Given the description of an element on the screen output the (x, y) to click on. 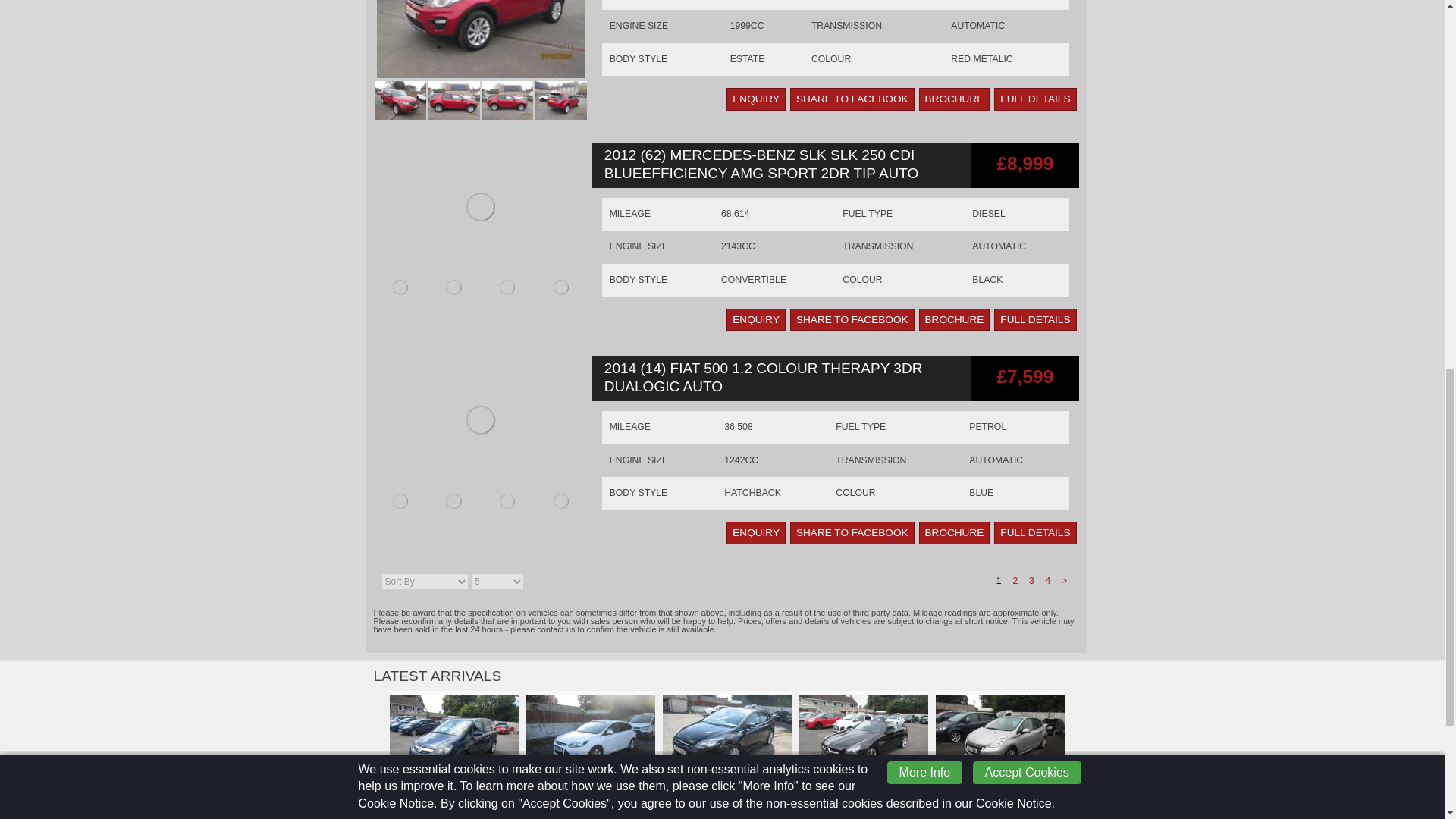
ENQUIRY (756, 98)
